Given the description of an element on the screen output the (x, y) to click on. 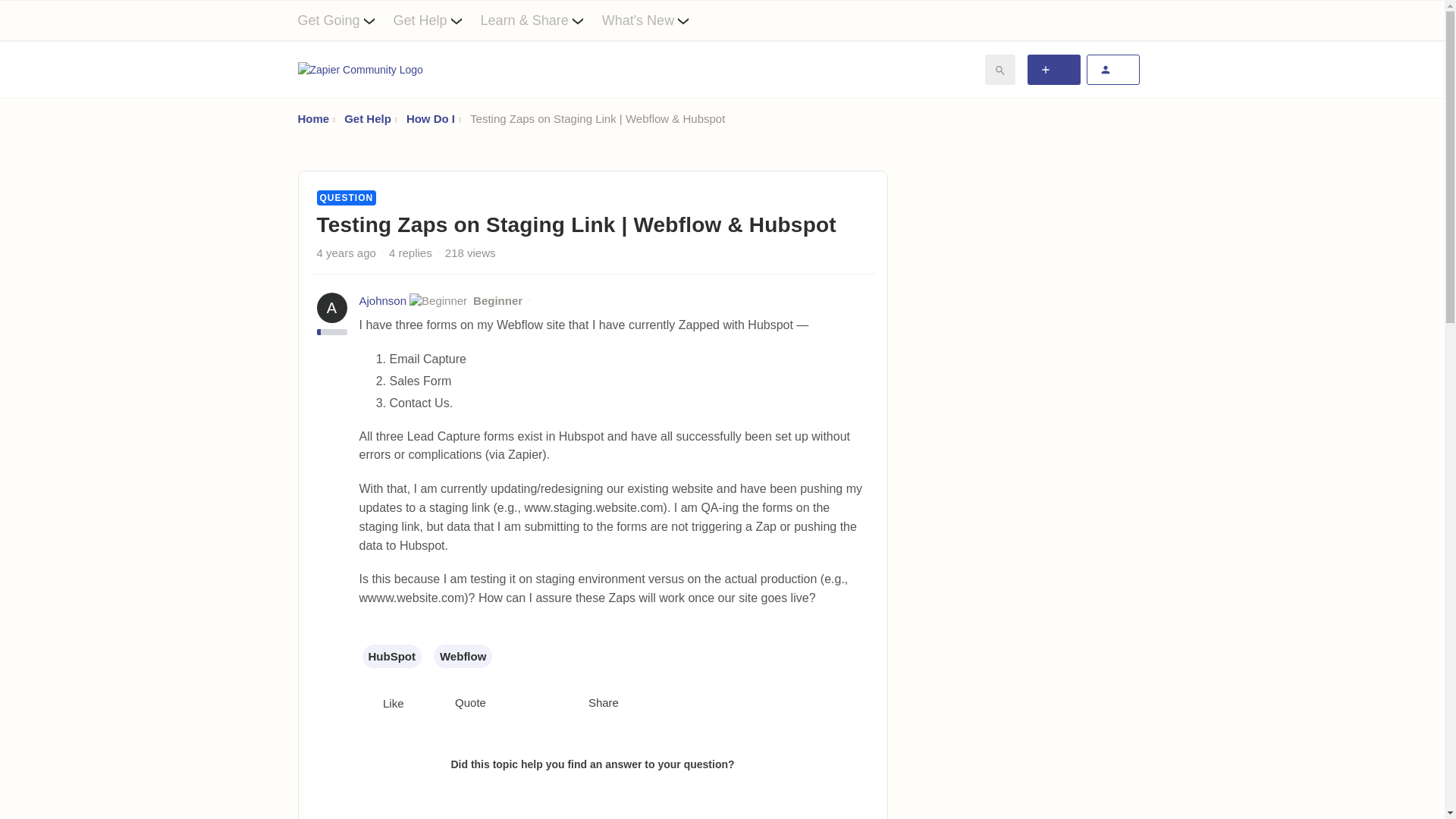
Beginner (497, 300)
Home (313, 118)
What's New (654, 20)
Get Help (367, 118)
Get Going (345, 20)
Get Help (436, 20)
